Given the description of an element on the screen output the (x, y) to click on. 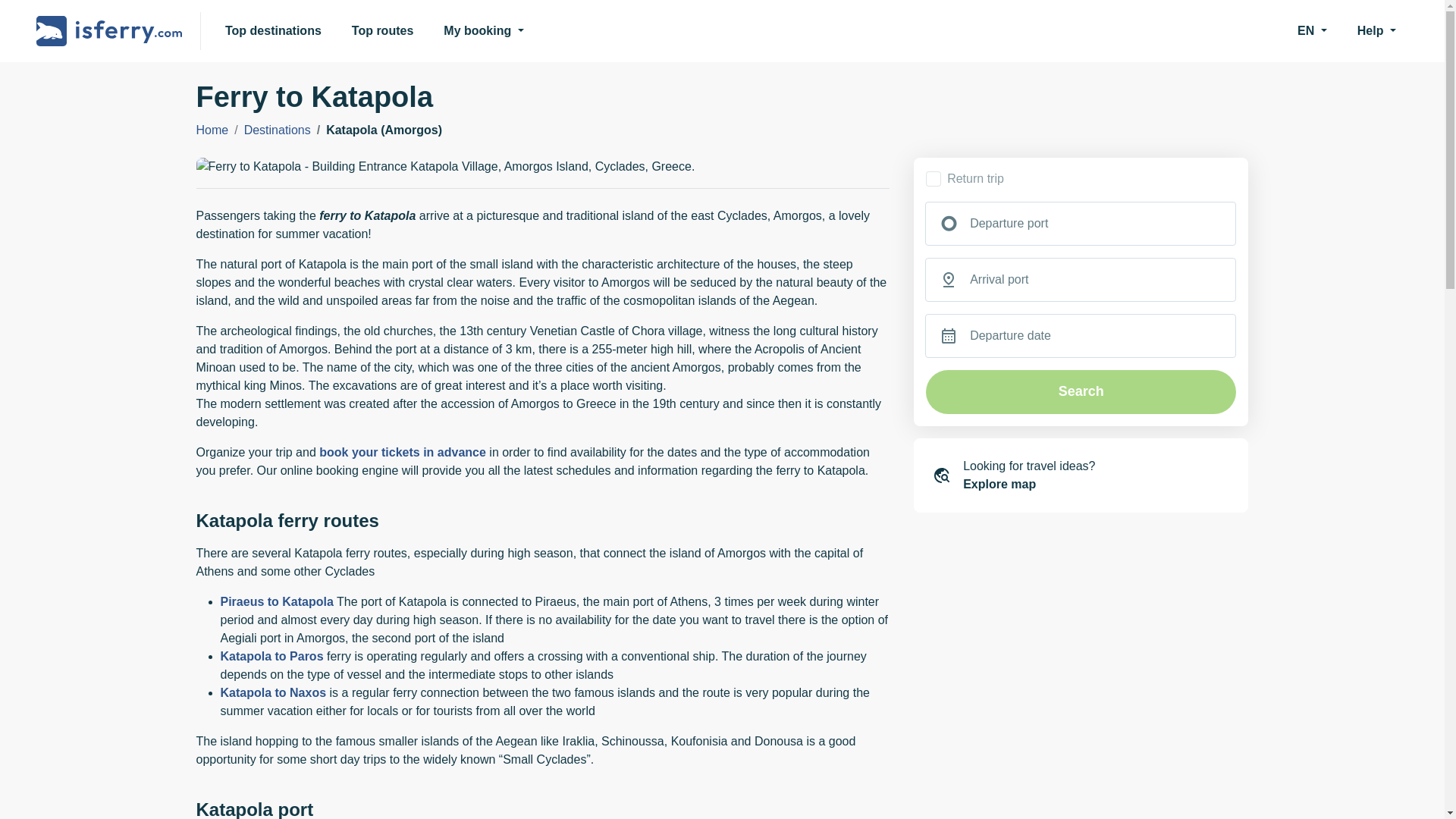
Piraeus-Katapola (276, 601)
Book in Advance (402, 451)
Katapola-Naxos (272, 692)
EN (1312, 30)
Help (1376, 30)
on (933, 178)
My booking (482, 30)
Top routes (382, 30)
Katapola-Paros (271, 656)
Top destinations (272, 30)
